Given the description of an element on the screen output the (x, y) to click on. 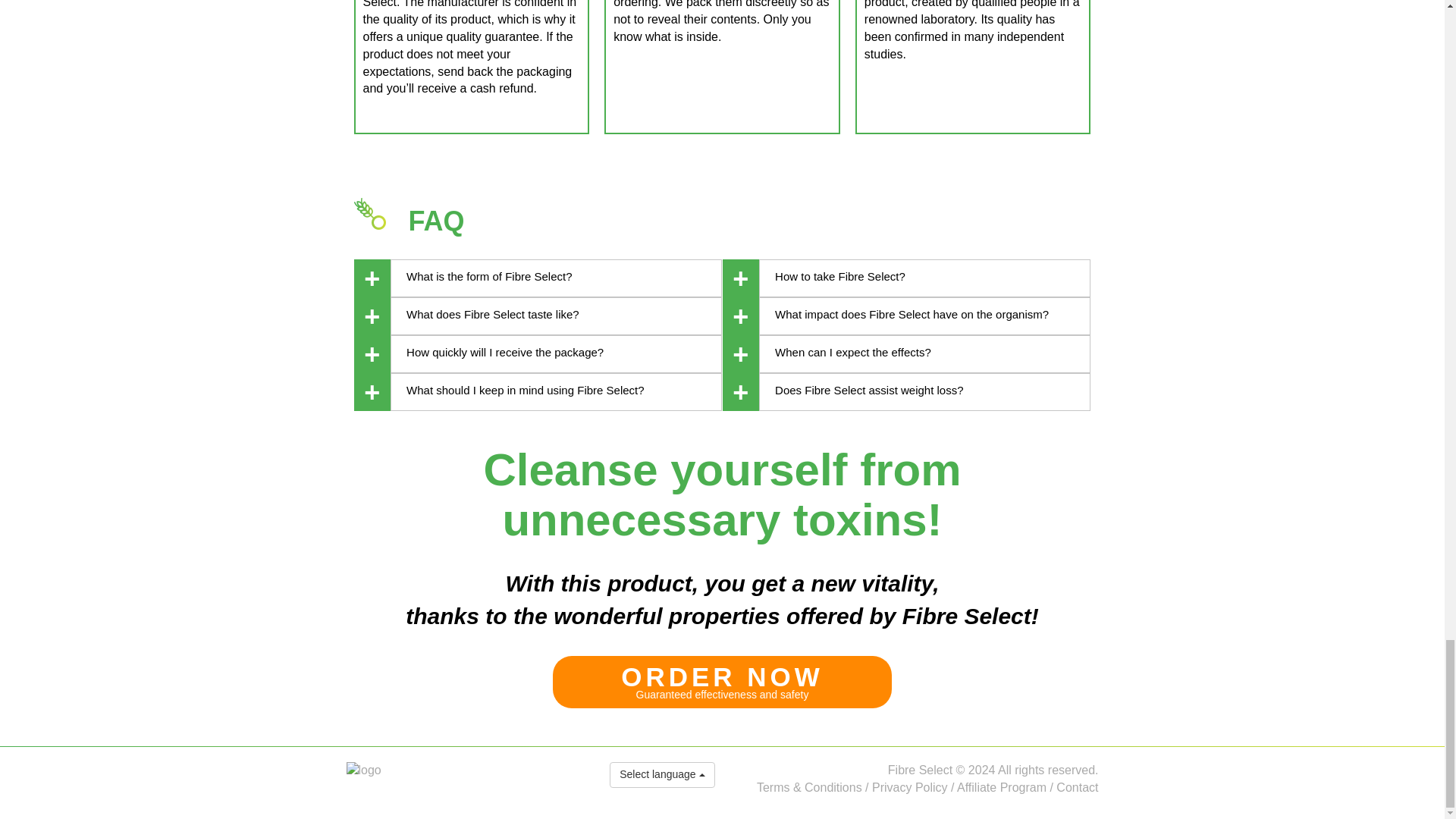
Select language (662, 774)
Contact (1077, 787)
Affiliate Program (1001, 787)
Privacy Policy (722, 682)
